Given the description of an element on the screen output the (x, y) to click on. 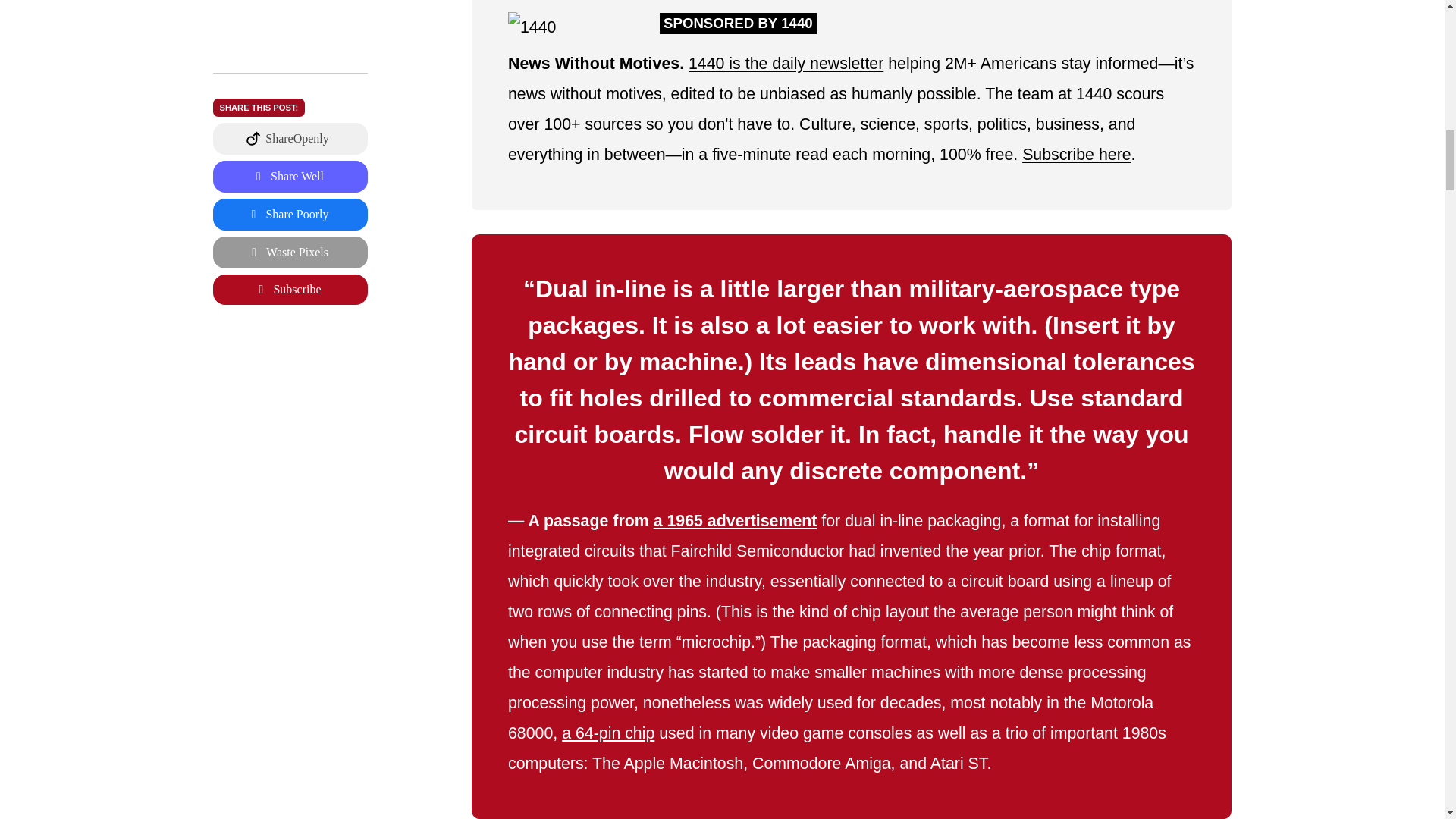
1440 is the daily newsletter (785, 63)
a 1965 advertisement (734, 520)
a 64-pin chip (608, 732)
Subscribe here (1077, 154)
SPONSORED BY 1440 (737, 22)
